Given the description of an element on the screen output the (x, y) to click on. 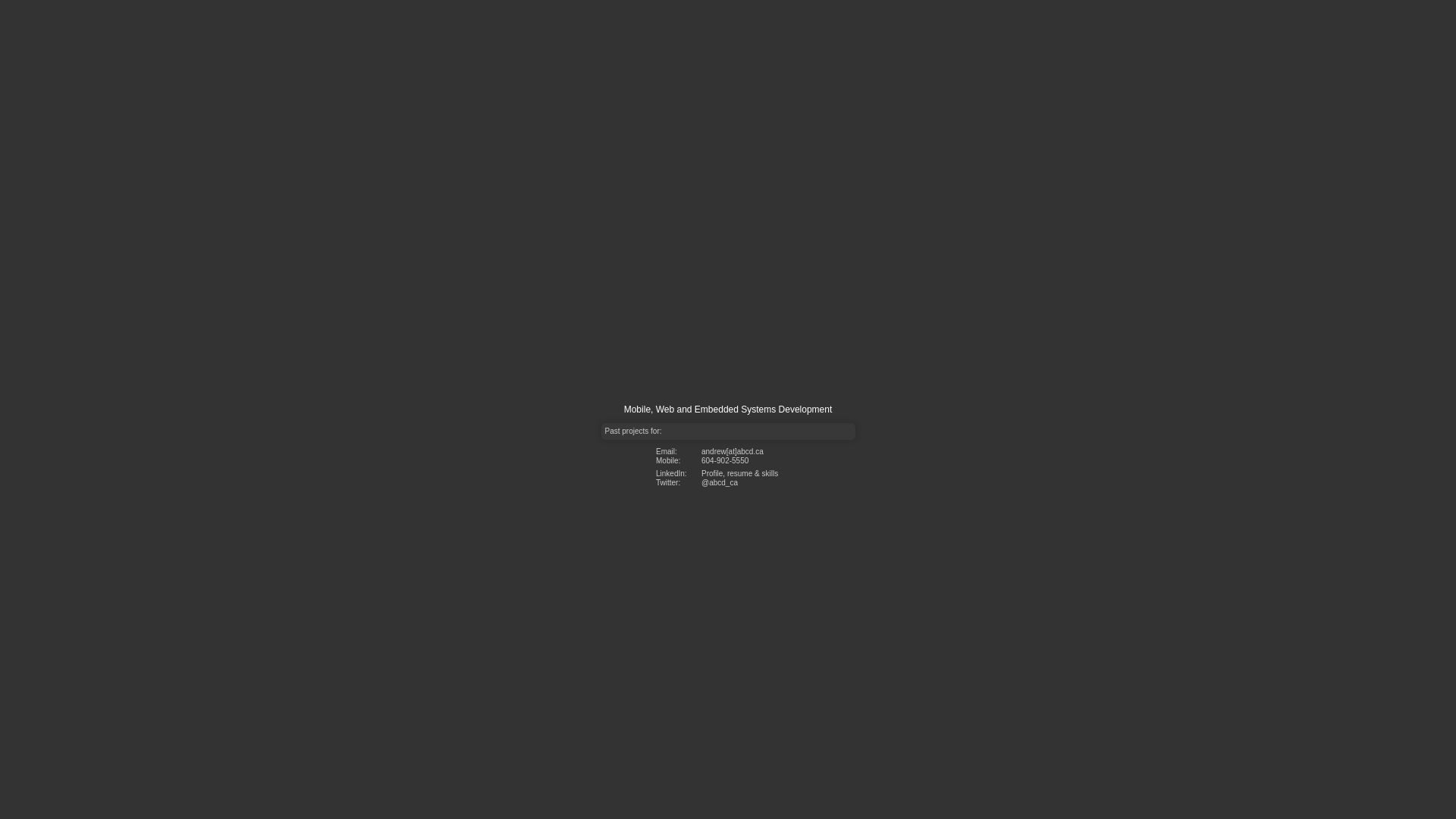
@abcd_ca Element type: text (719, 482)
Profile, resume & skills Element type: text (739, 473)
